Given the description of an element on the screen output the (x, y) to click on. 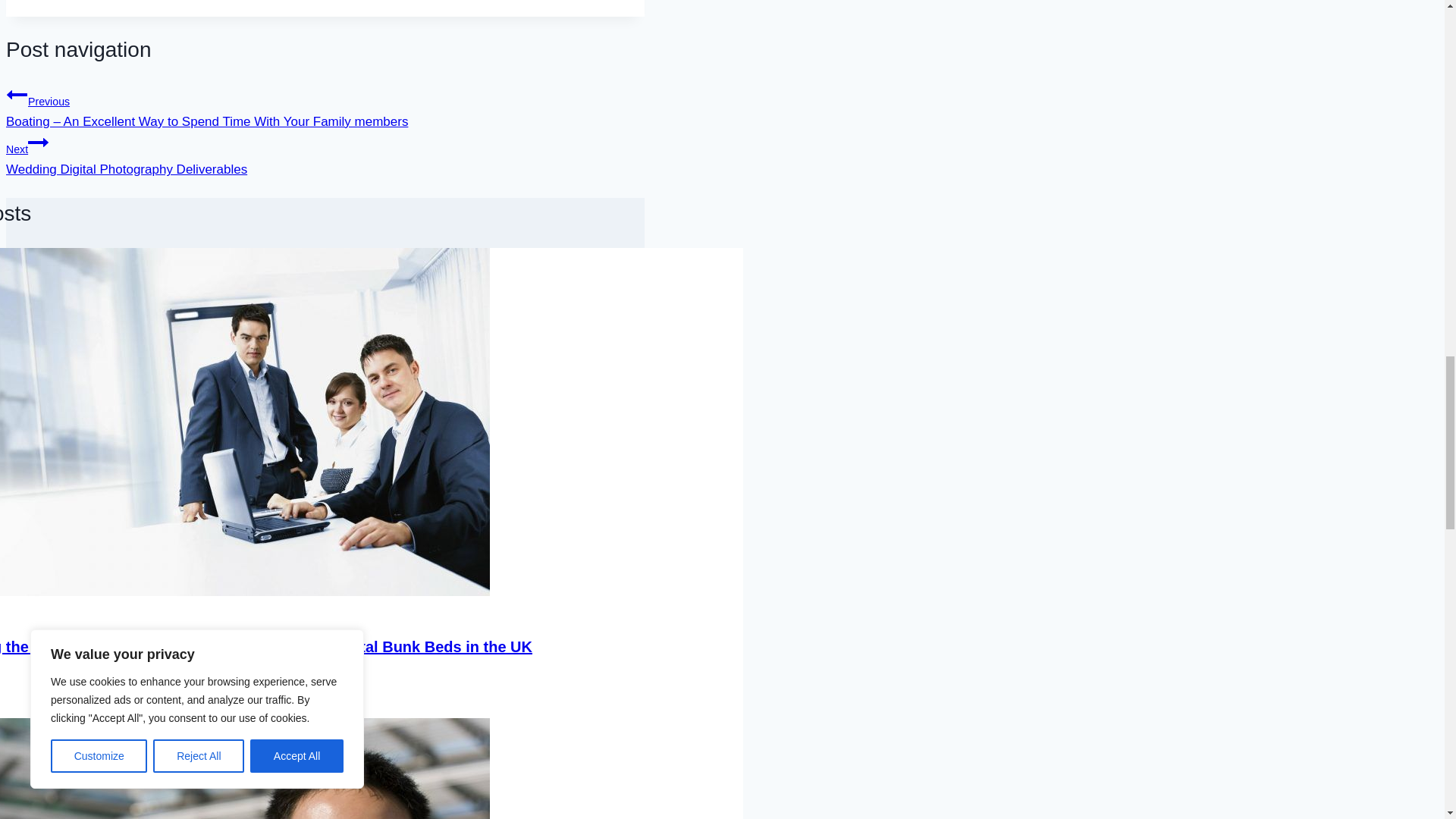
Continue (37, 142)
Previous (16, 94)
